Given the description of an element on the screen output the (x, y) to click on. 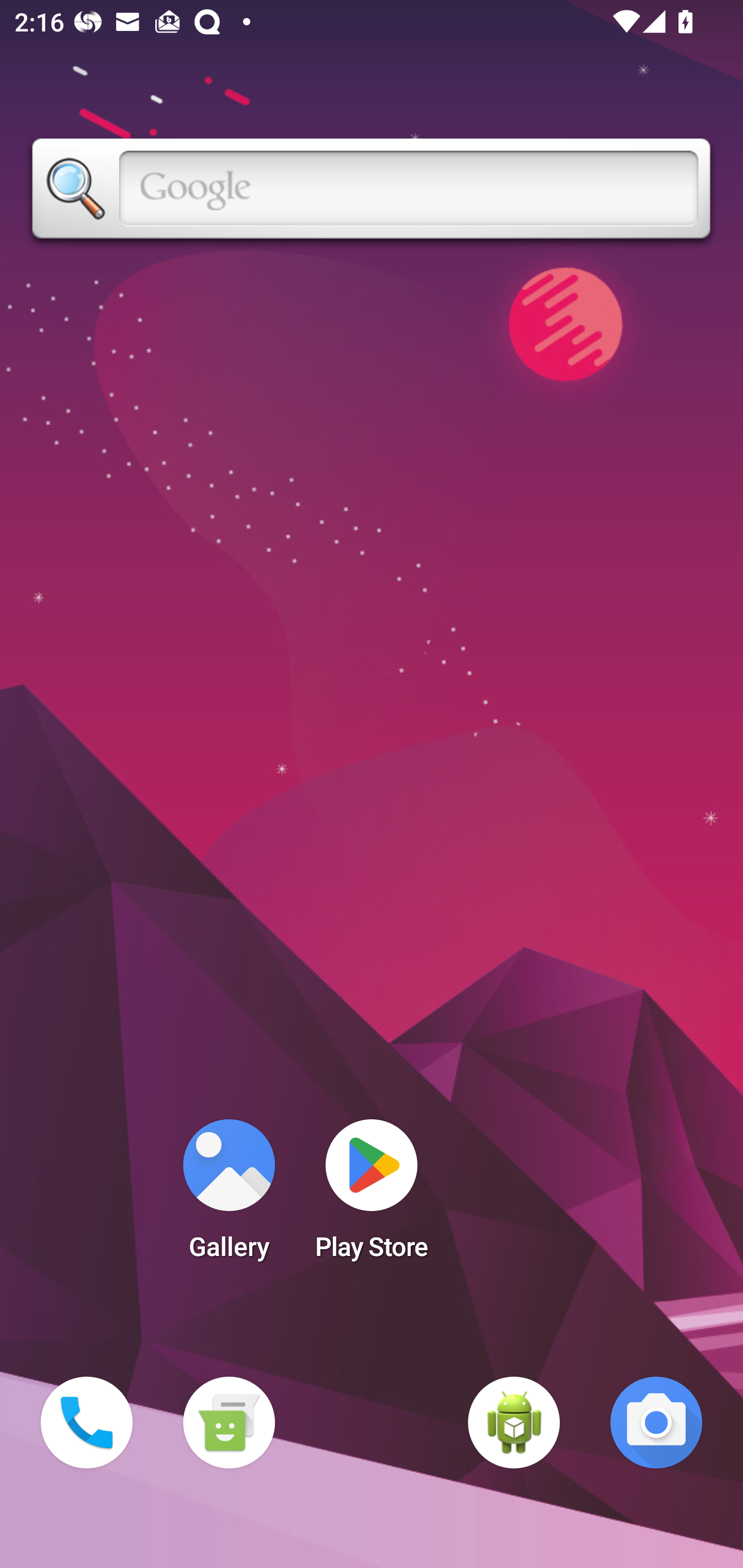
Gallery (228, 1195)
Play Store (371, 1195)
Phone (86, 1422)
Messaging (228, 1422)
WebView Browser Tester (513, 1422)
Camera (656, 1422)
